Given the description of an element on the screen output the (x, y) to click on. 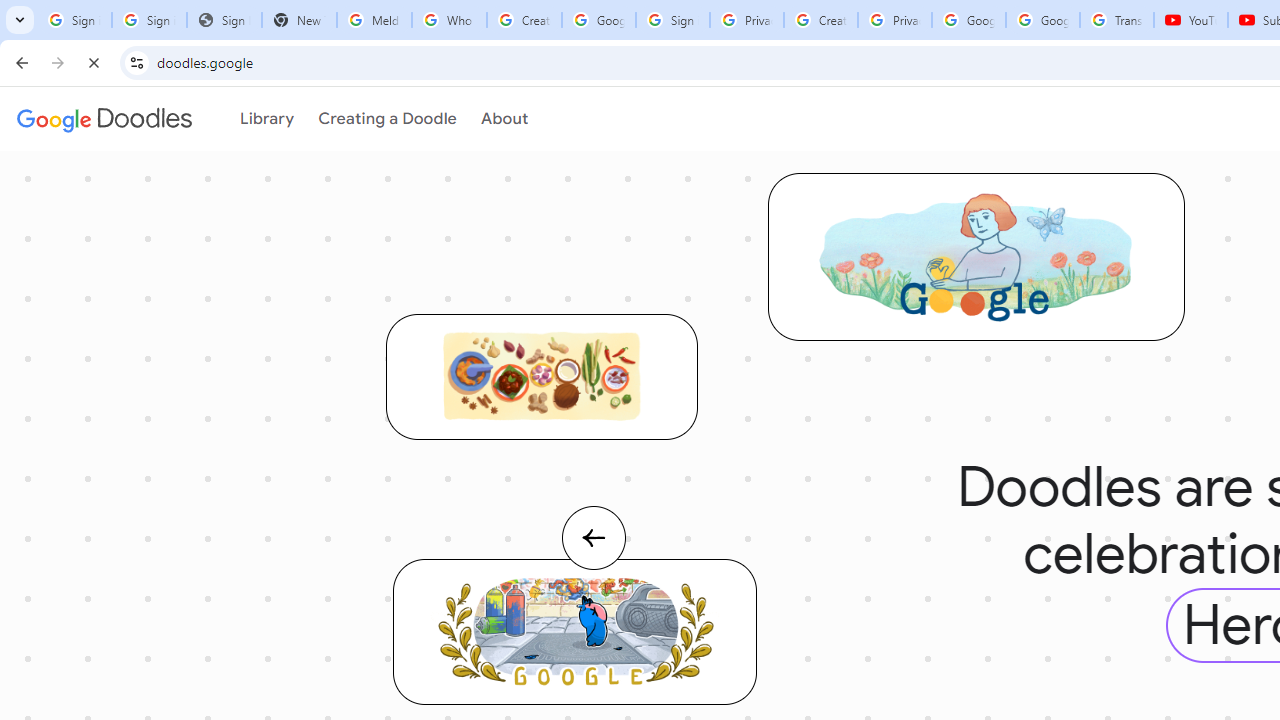
Create your Google Account (820, 20)
Who is my administrator? - Google Account Help (449, 20)
Sign in - Google Accounts (148, 20)
YouTube (1190, 20)
Creating a Doodle (380, 119)
Library (265, 119)
Sign in - Google Accounts (673, 20)
Previous slide (592, 558)
